Given the description of an element on the screen output the (x, y) to click on. 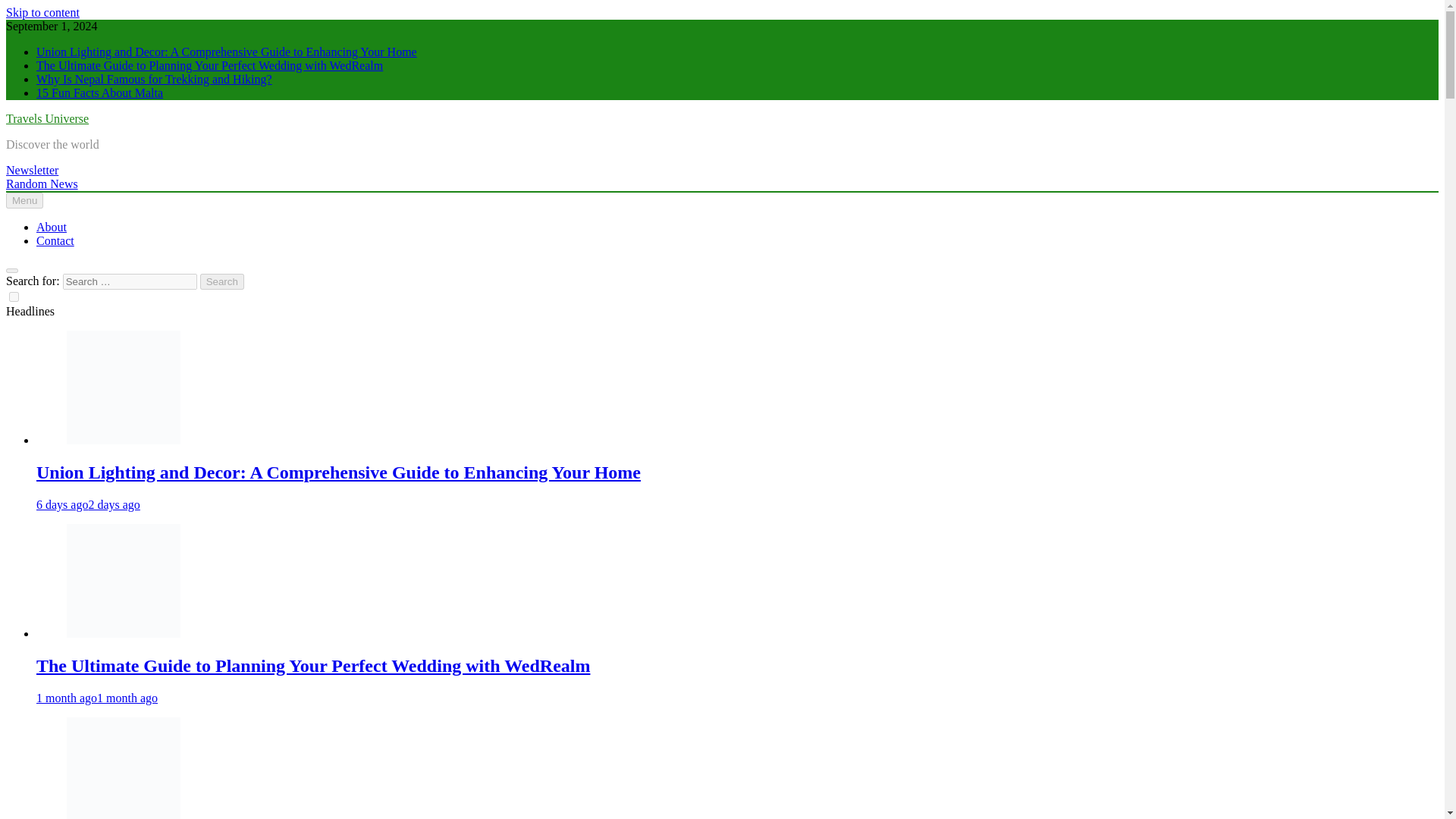
Newsletter (31, 169)
on (13, 296)
Menu (24, 200)
Search (222, 281)
Search (222, 281)
Search (222, 281)
